Given the description of an element on the screen output the (x, y) to click on. 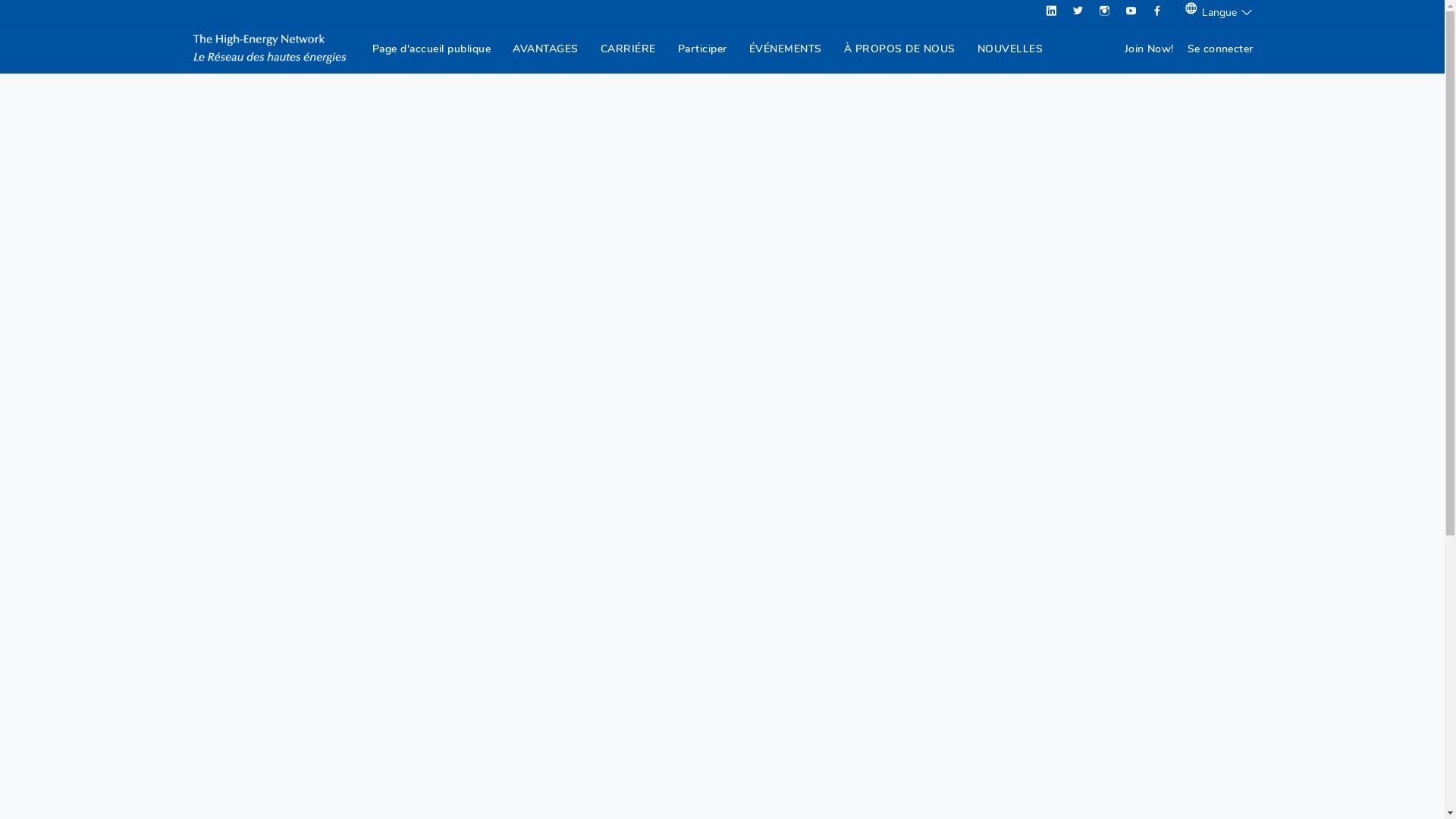
Participer Element type: text (702, 48)
Join Now! Element type: text (1148, 48)
Page d'accueil publique Element type: text (431, 48)
AVANTAGES Element type: text (545, 48)
Se connecter Element type: text (1220, 48)
NOUVELLES Element type: text (1010, 48)
